Given the description of an element on the screen output the (x, y) to click on. 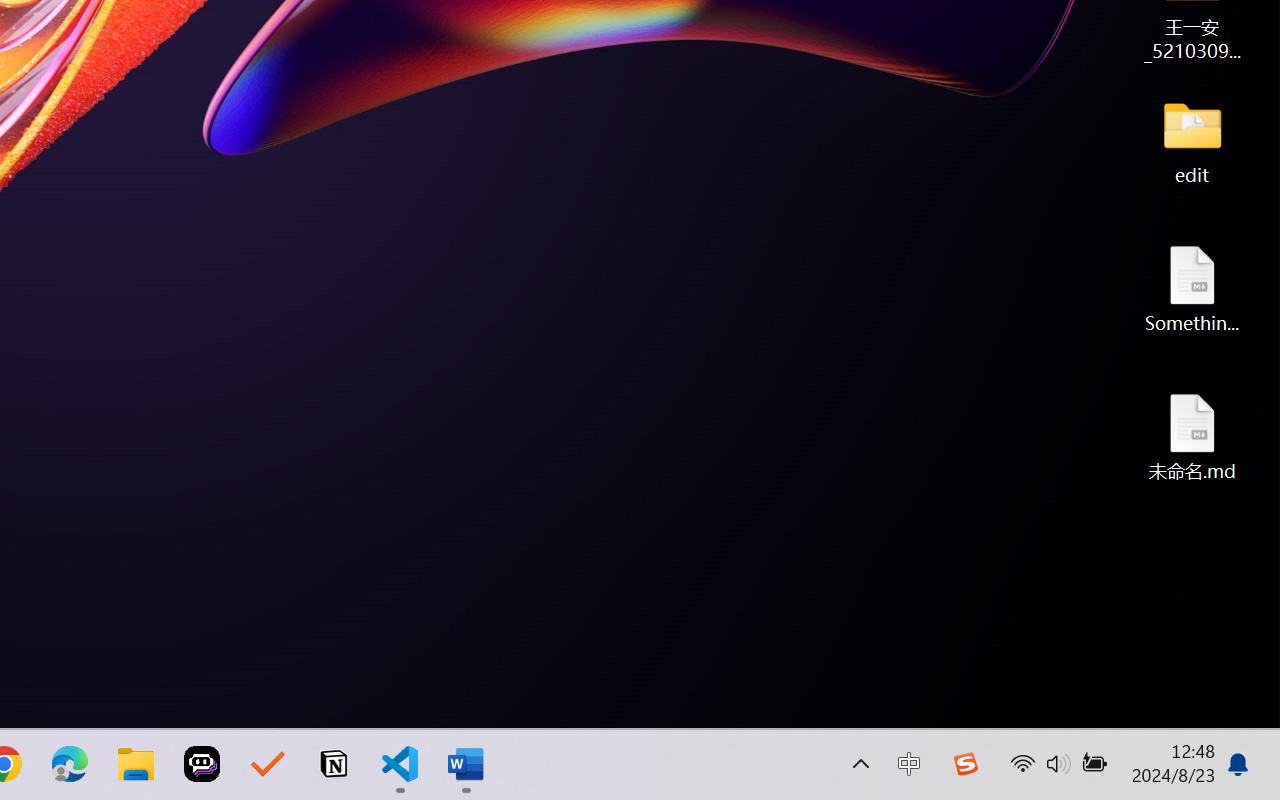
edit (1192, 140)
Something.md (1192, 288)
